Given the description of an element on the screen output the (x, y) to click on. 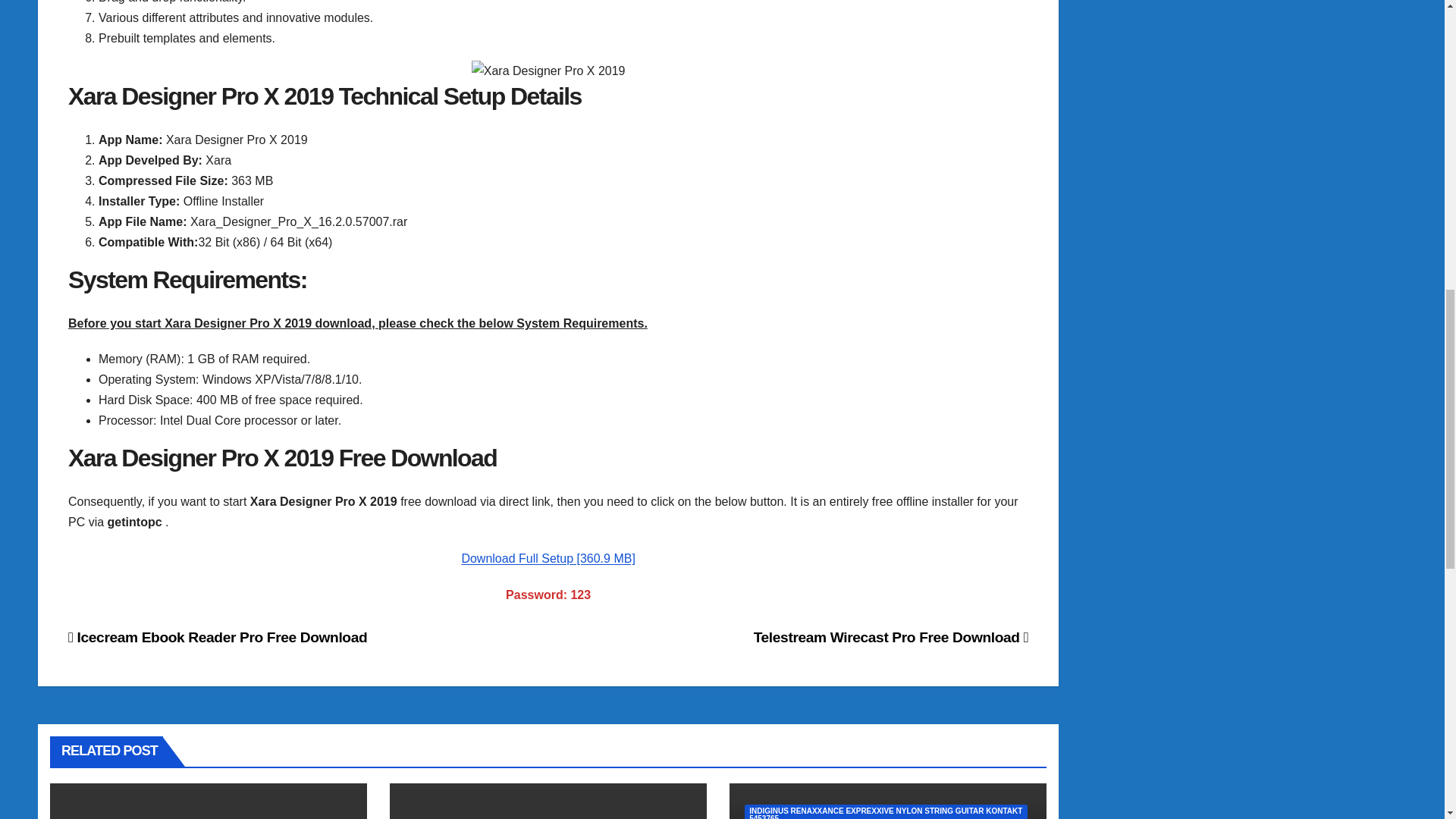
Telestream Wirecast Pro Free Download (891, 637)
Icecream Ebook Reader Pro Free Download (217, 637)
